Given the description of an element on the screen output the (x, y) to click on. 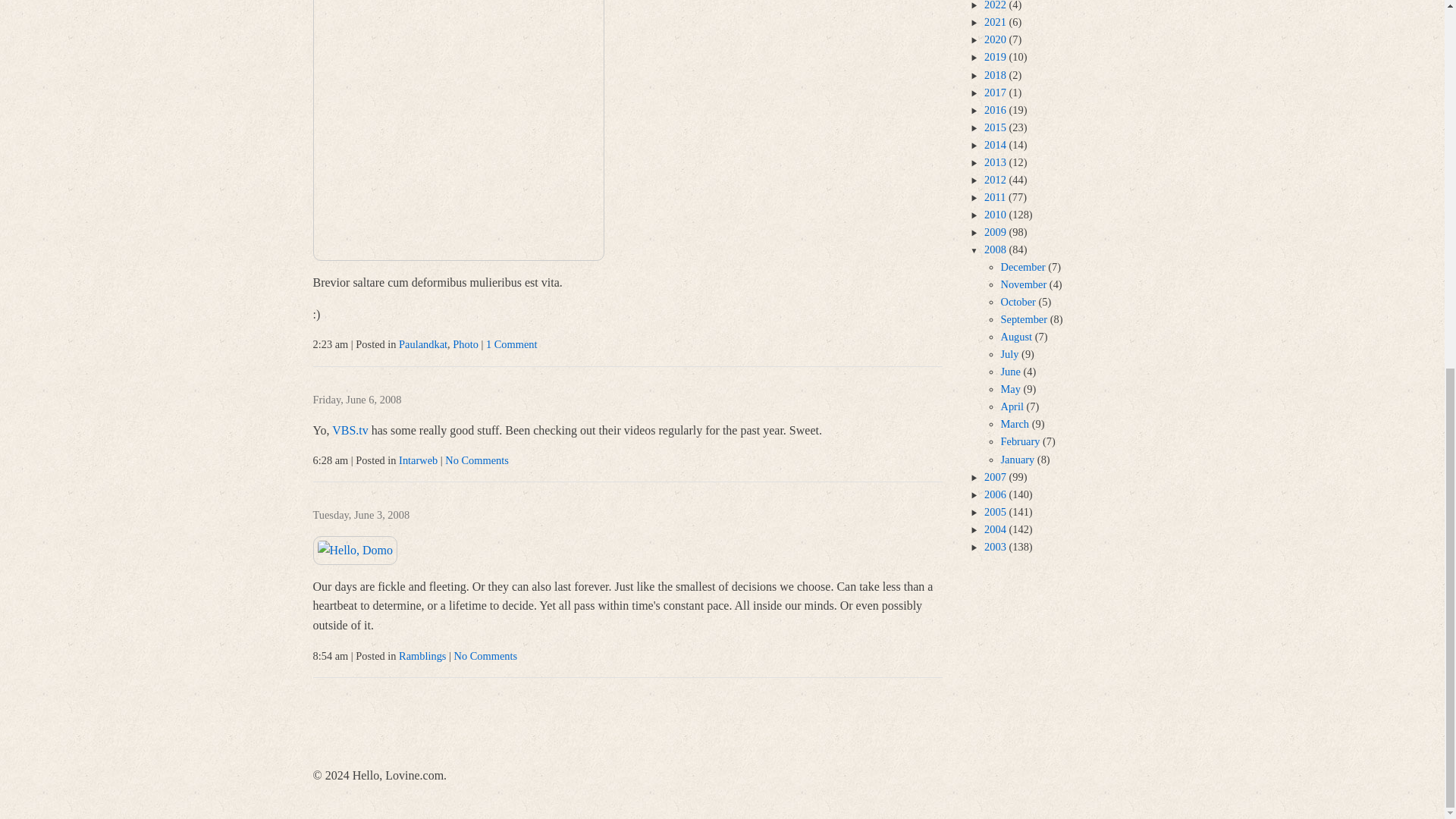
No Comments (476, 460)
Ramblings (421, 655)
Photo (465, 344)
Intarweb (418, 460)
No Comments (486, 655)
1 Comment (511, 344)
Paulandkat (422, 344)
VBS.tv (349, 430)
